Given the description of an element on the screen output the (x, y) to click on. 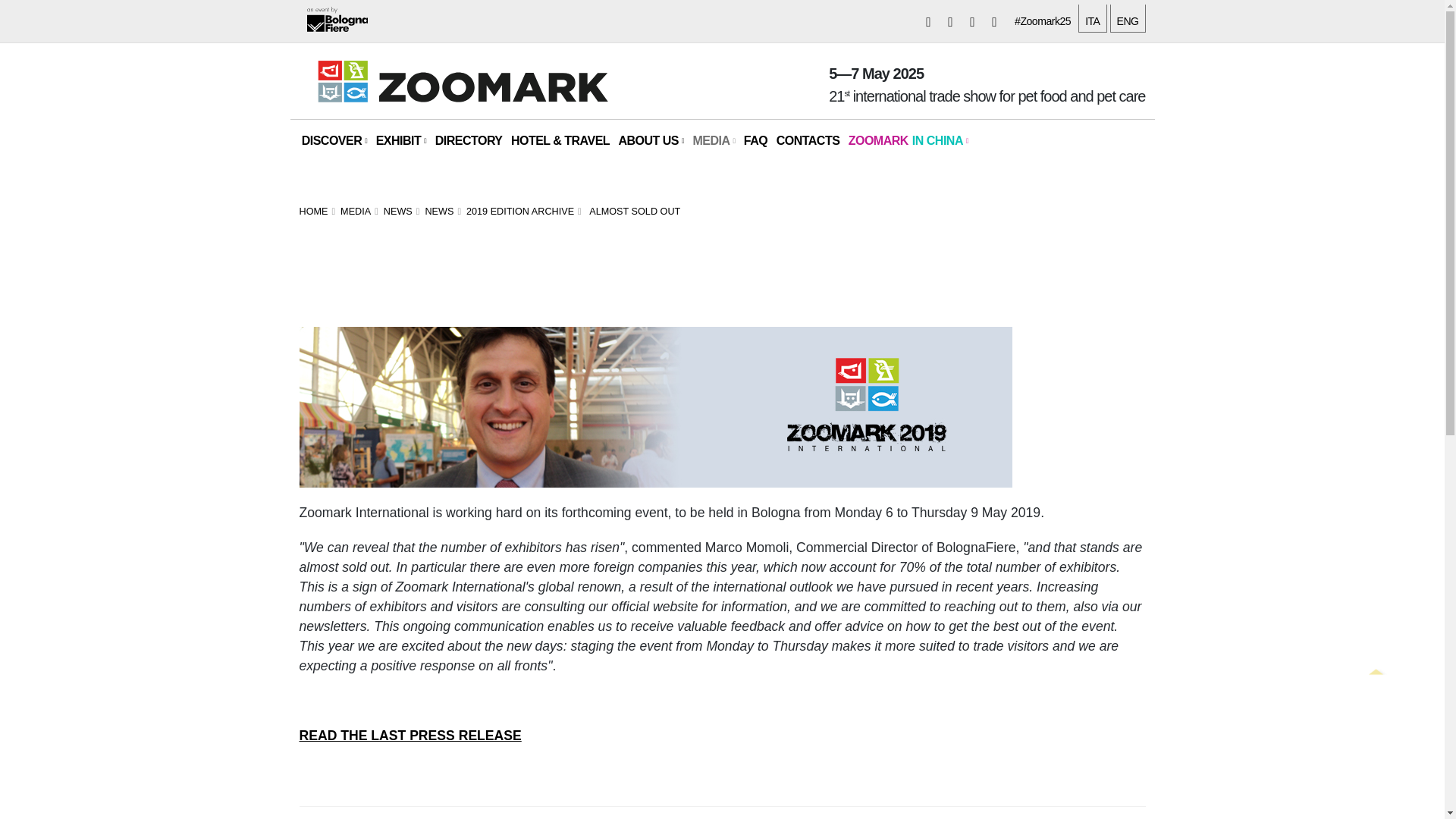
EXHIBIT (400, 140)
ENG (1127, 18)
ITA (1092, 18)
DIRECTORY (467, 140)
ABOUT US (650, 140)
DISCOVER (333, 140)
